Given the description of an element on the screen output the (x, y) to click on. 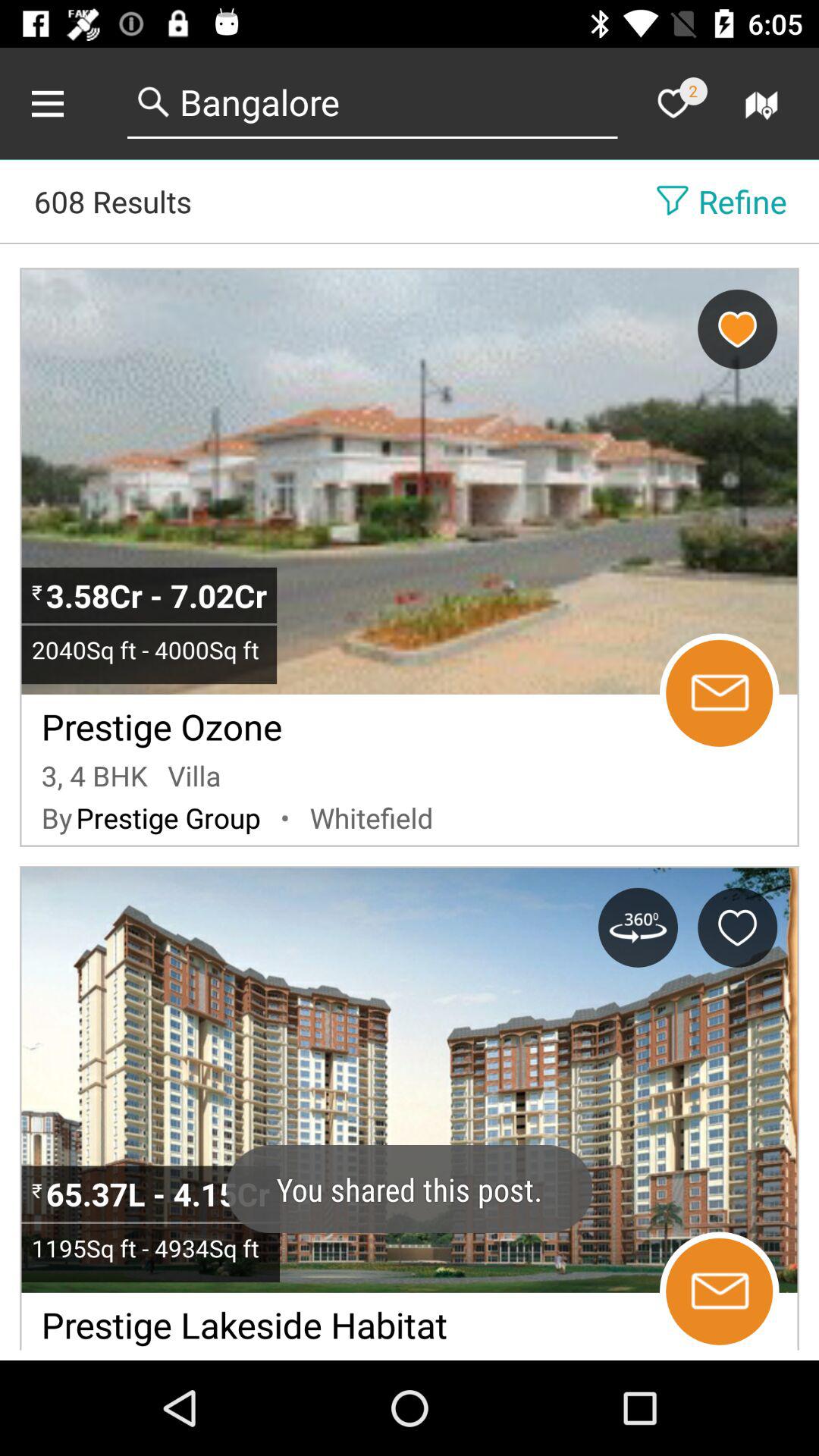
rotate image button (637, 927)
